Given the description of an element on the screen output the (x, y) to click on. 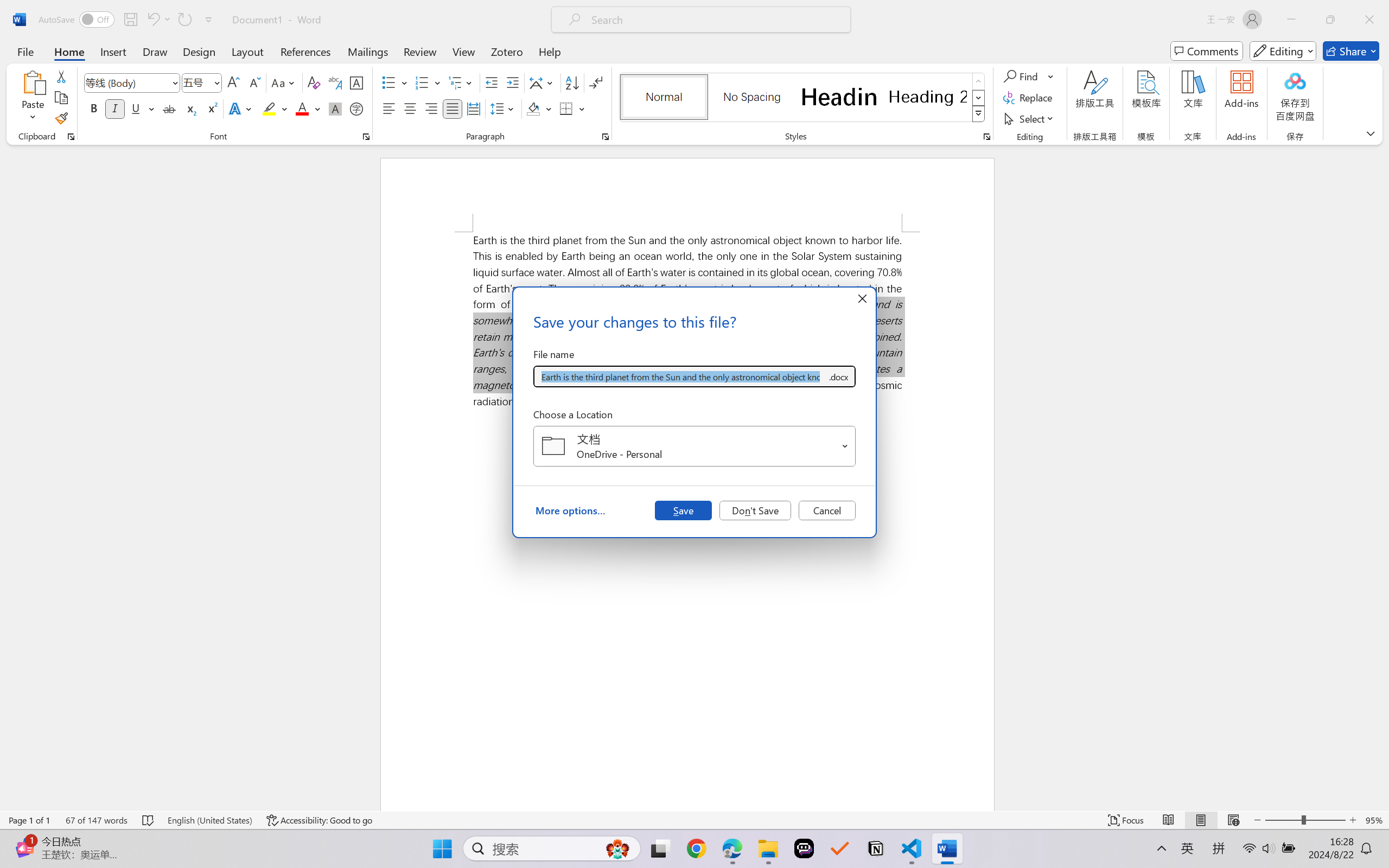
Shading RGB(0, 0, 0) (533, 108)
Format Painter (60, 118)
Select (1030, 118)
Shading (539, 108)
Row Down (978, 97)
Choose a Location (694, 446)
Enclose Characters... (356, 108)
Font Color Red (302, 108)
